Given the description of an element on the screen output the (x, y) to click on. 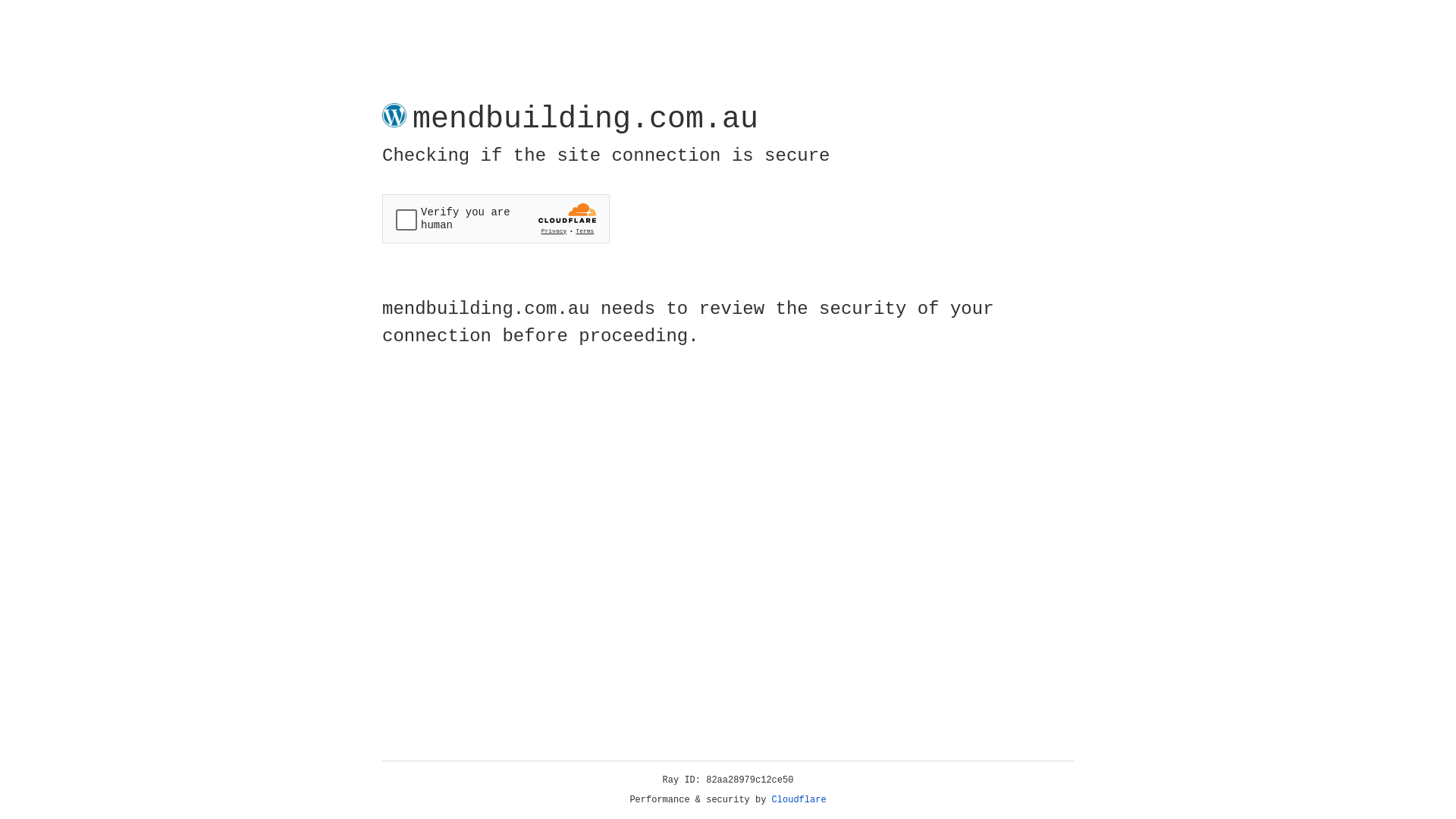
Cloudflare Element type: text (798, 799)
Widget containing a Cloudflare security challenge Element type: hover (495, 218)
